Given the description of an element on the screen output the (x, y) to click on. 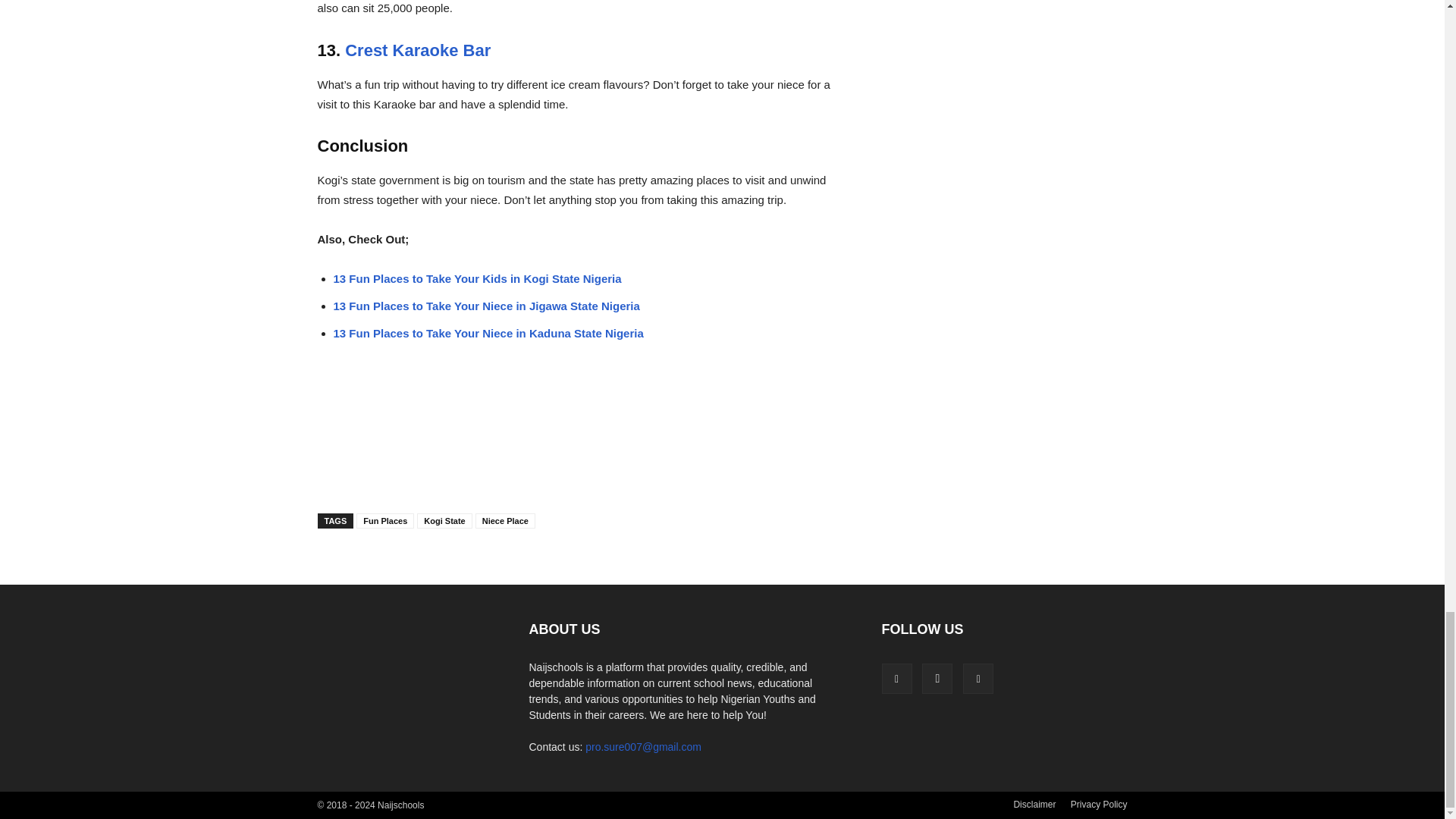
13 Fun Places to Take Your Niece in Kaduna State Nigeria (488, 332)
13 Fun Places to Take Your Niece in Jigawa State Nigeria (486, 305)
Facebook (895, 678)
Twitter (977, 678)
Instagram (936, 678)
13 Fun Places to Take Your Kids in Kogi State Nigeria (477, 278)
